Given the description of an element on the screen output the (x, y) to click on. 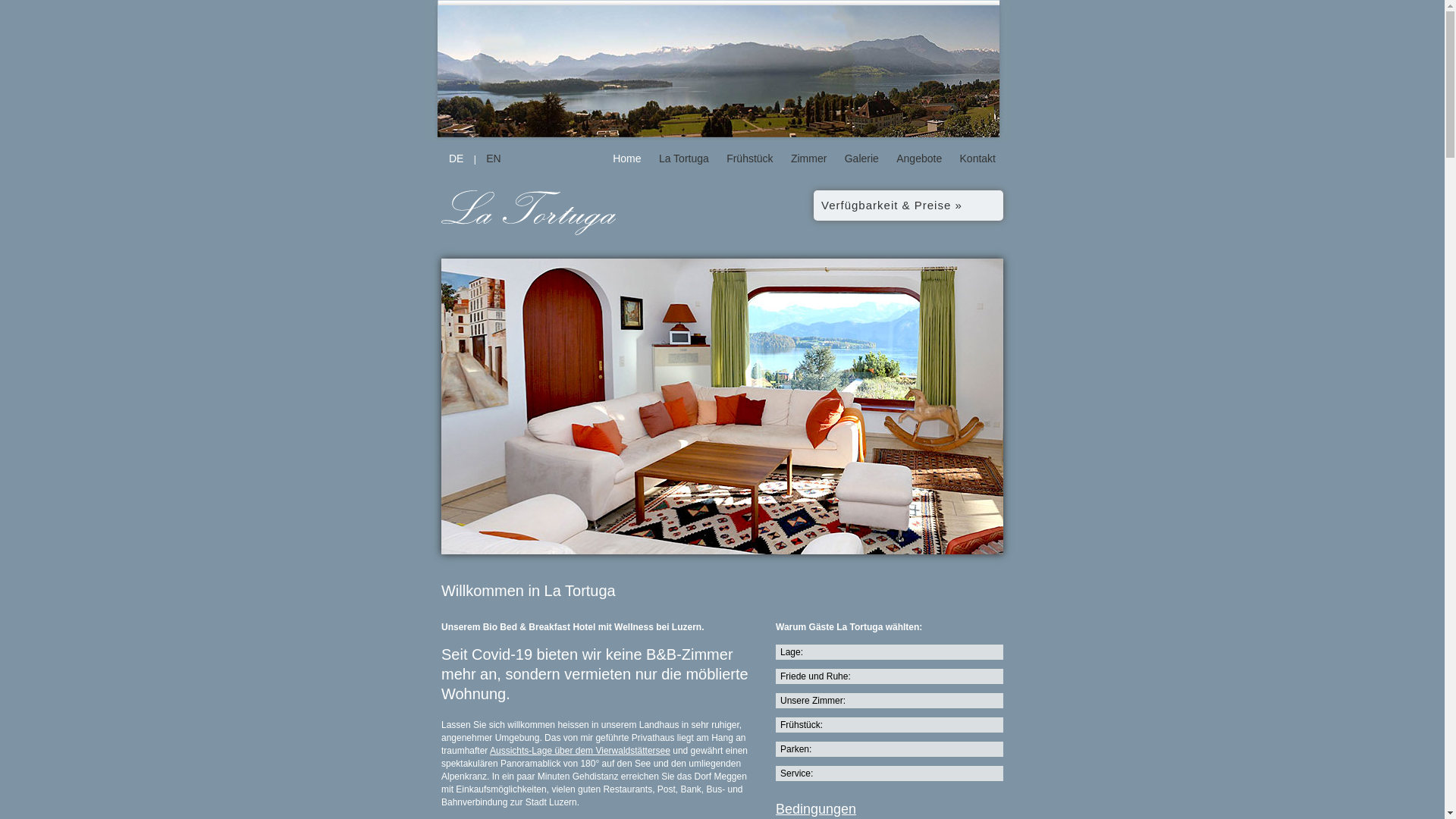
Parken: Element type: text (889, 748)
La Tortuga Element type: text (683, 158)
Lage: Element type: text (889, 651)
Bedingungen Element type: text (815, 808)
DE Element type: text (455, 158)
EN Element type: text (493, 158)
Service: Element type: text (889, 773)
Kontakt Element type: text (977, 158)
La Tortuga Element type: hover (528, 212)
La Tortuga Element type: hover (528, 229)
Home Element type: text (626, 158)
Angebote Element type: text (918, 158)
Zimmer Element type: text (808, 158)
Unsere Zimmer: Element type: text (889, 700)
Friede und Ruhe: Element type: text (889, 676)
Galerie Element type: text (861, 158)
